Given the description of an element on the screen output the (x, y) to click on. 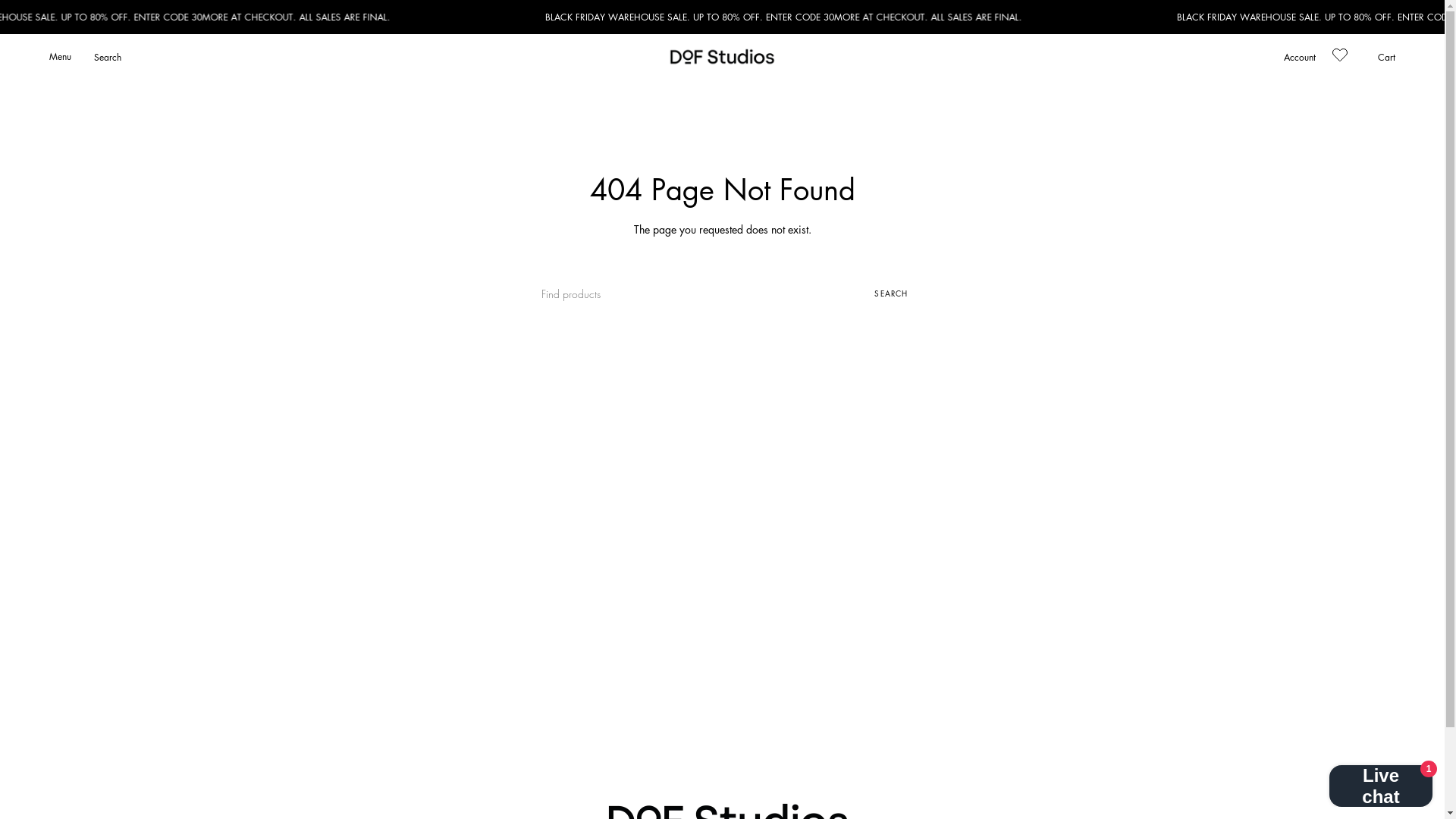
Cart Element type: text (1386, 56)
Shopify online store chat Element type: hover (1380, 780)
Menu Element type: text (59, 56)
Account Element type: text (1299, 56)
SEARCH Element type: text (890, 293)
Search Element type: text (107, 56)
